Given the description of an element on the screen output the (x, y) to click on. 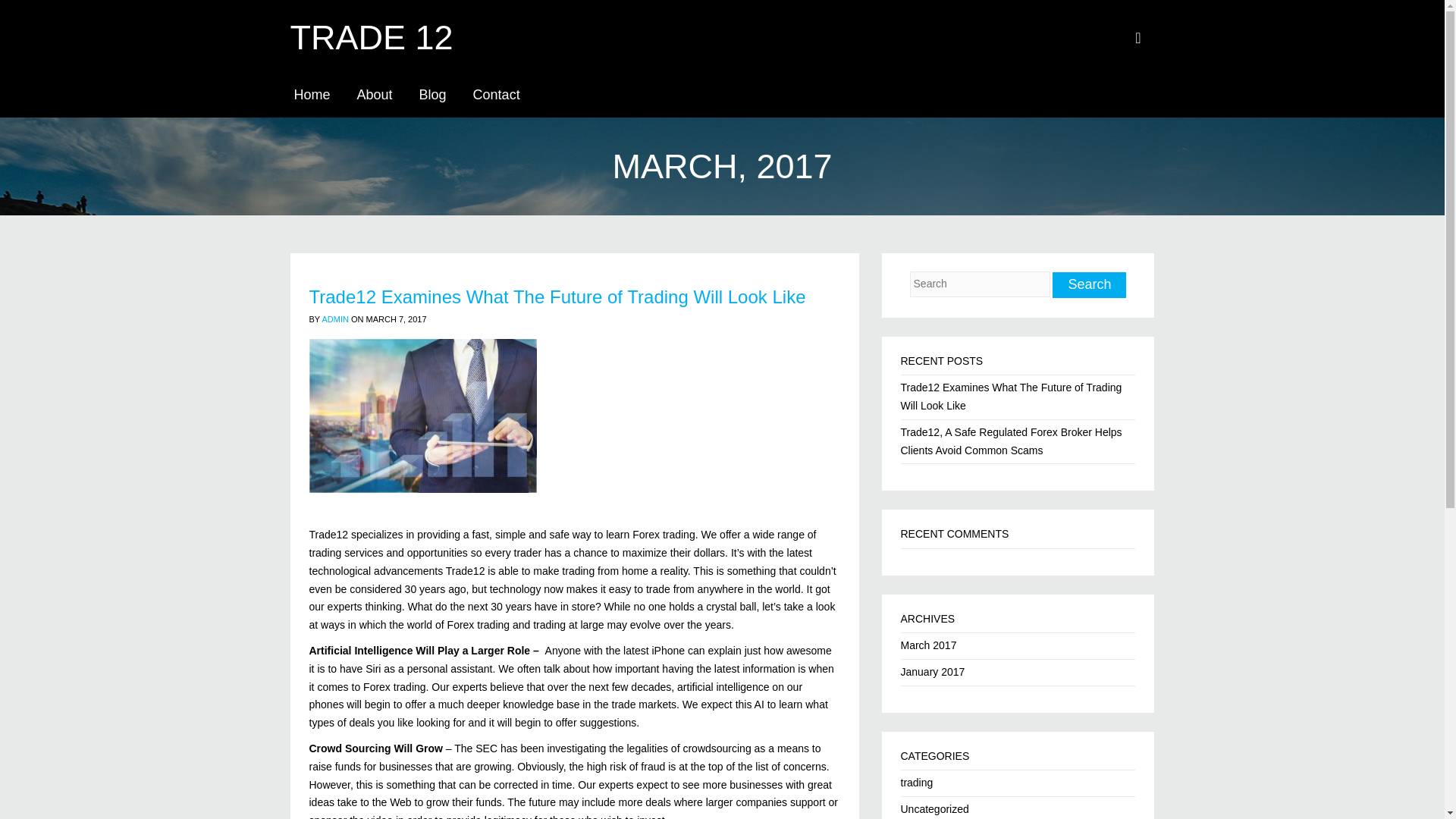
Trade12 Examines What The Future of Trading Will Look Like (557, 296)
Trade12 Examines What The Future of Trading Will Look Like (1011, 396)
March 2017 (928, 645)
Posts by admin (334, 318)
Search (1088, 284)
About (374, 93)
TRADE 12 (370, 37)
January 2017 (933, 671)
ADMIN (334, 318)
Contact (496, 93)
Uncategorized (935, 808)
Contact (496, 93)
About (374, 93)
Search (1088, 284)
